Given the description of an element on the screen output the (x, y) to click on. 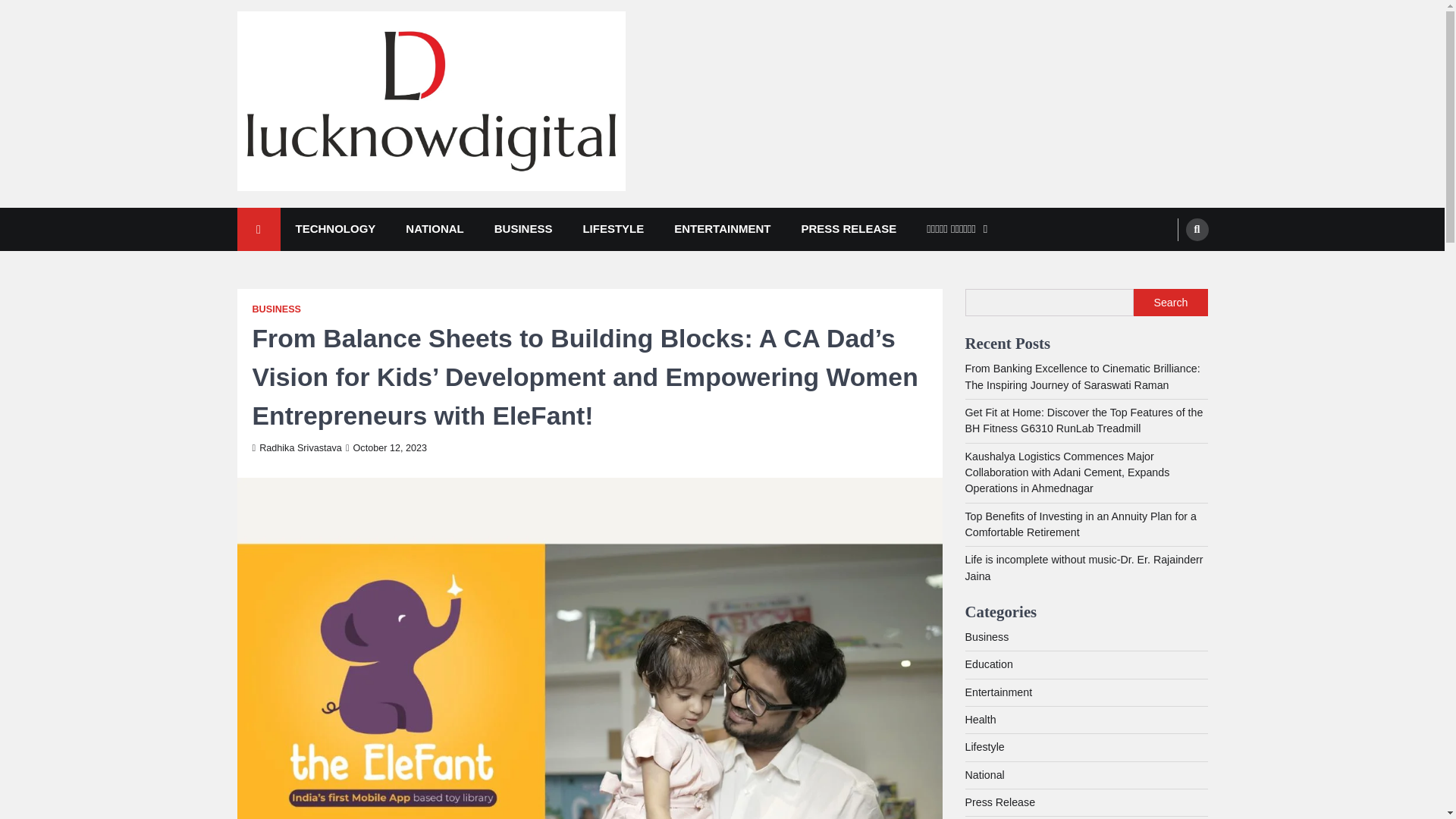
Search (1197, 229)
October 12, 2023 (386, 448)
Search (1170, 302)
PRESS RELEASE (848, 229)
Radhika Srivastava (295, 448)
BUSINESS (276, 309)
Life is incomplete without music-Dr. Er. Rajainderr Jaina (1082, 567)
TECHNOLOGY (336, 229)
